Given the description of an element on the screen output the (x, y) to click on. 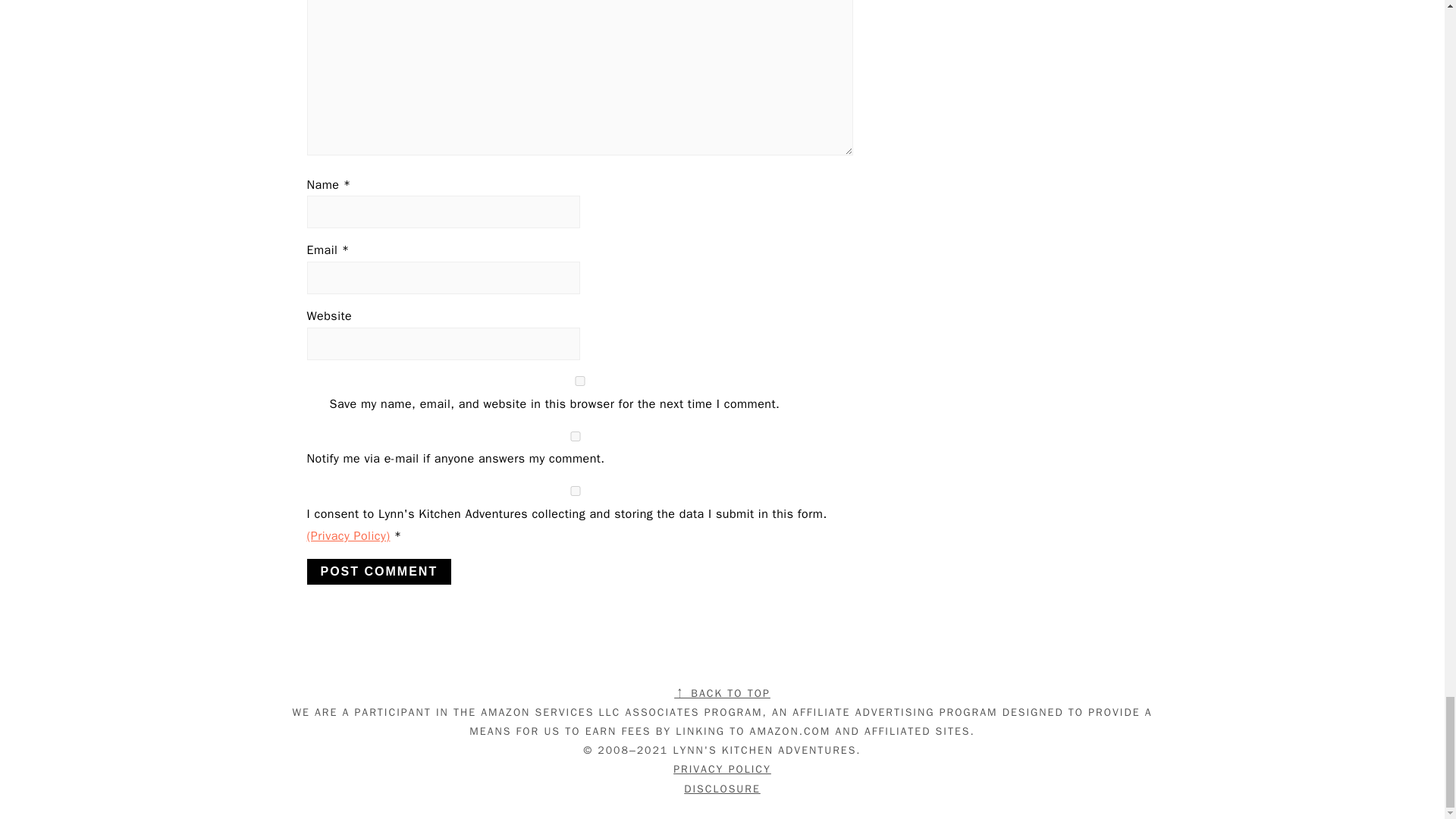
Post Comment (378, 571)
on (574, 436)
yes (578, 380)
yes (574, 491)
